Given the description of an element on the screen output the (x, y) to click on. 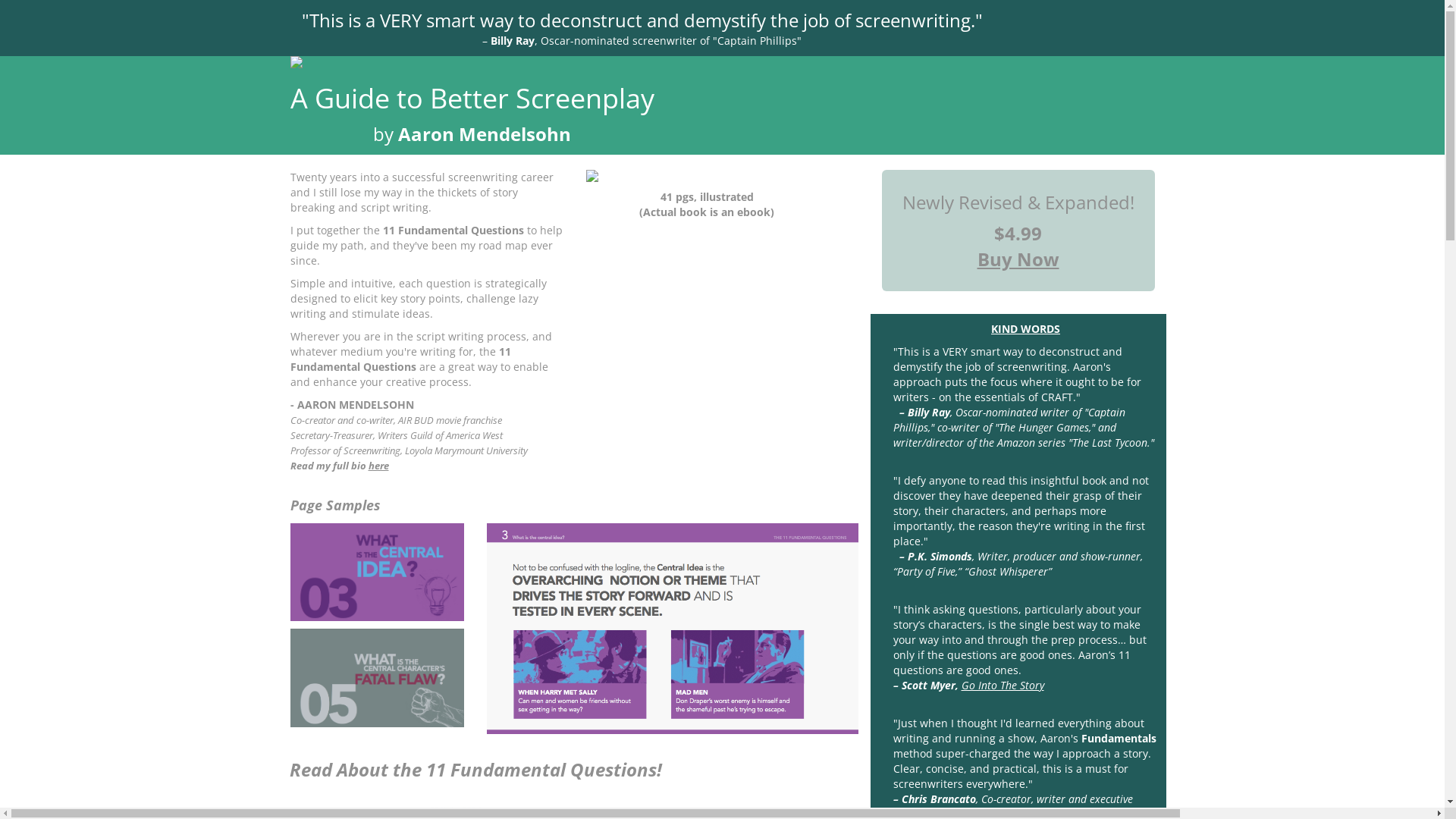
here Element type: text (378, 465)
Buy Now Element type: text (1017, 258)
